Given the description of an element on the screen output the (x, y) to click on. 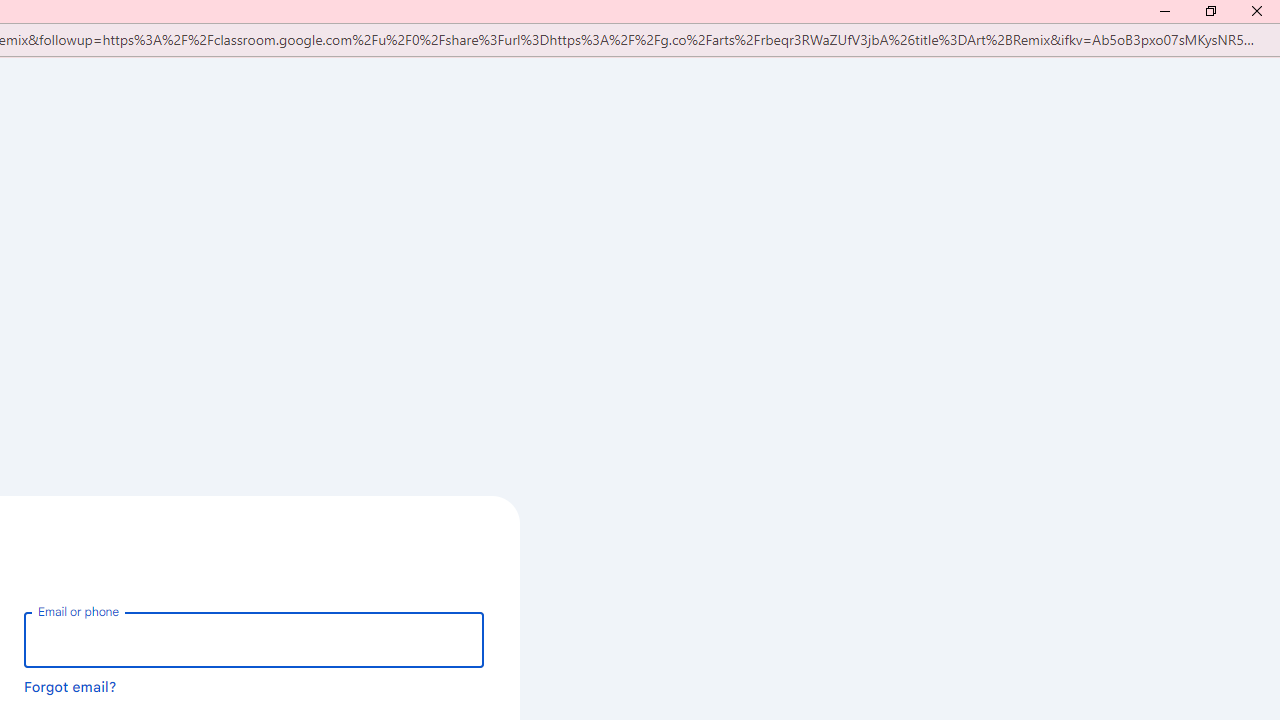
Forgot email? (70, 687)
Email or phone (253, 640)
